Given the description of an element on the screen output the (x, y) to click on. 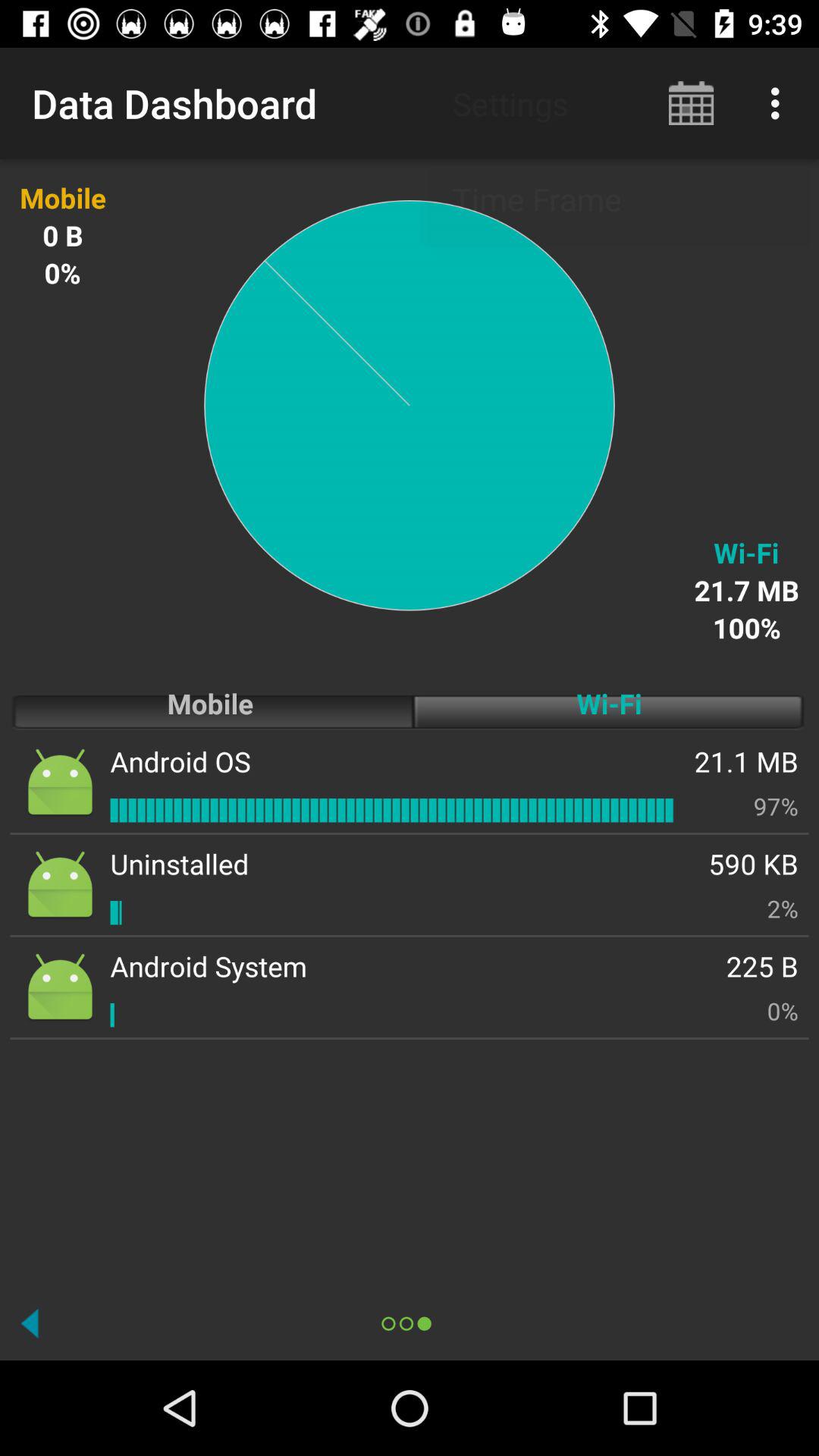
click app to the right of uninstalled icon (753, 863)
